Given the description of an element on the screen output the (x, y) to click on. 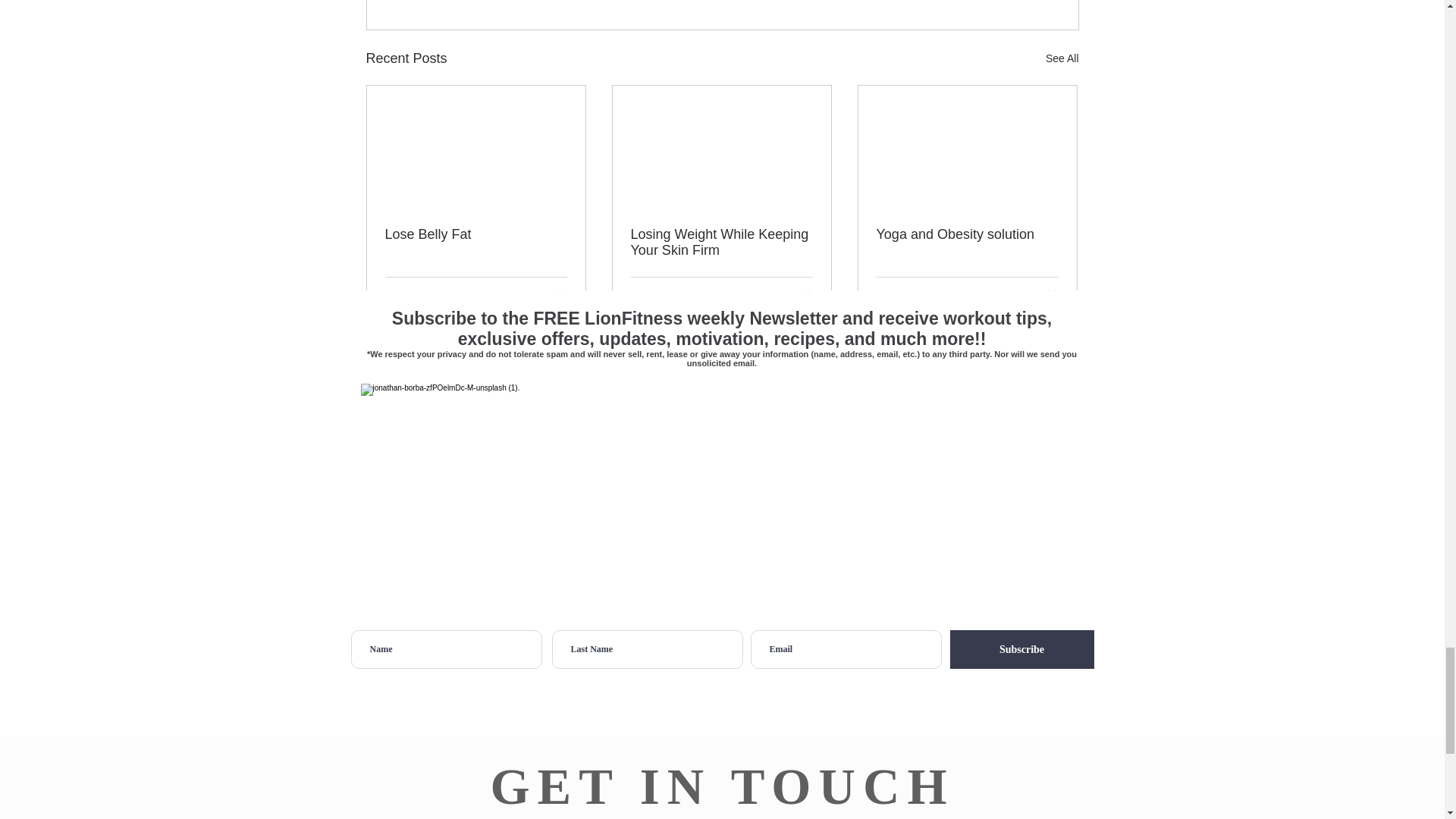
0 (397, 296)
Lose Belly Fat (476, 234)
Post not marked as liked (558, 295)
See All (1061, 58)
